Given the description of an element on the screen output the (x, y) to click on. 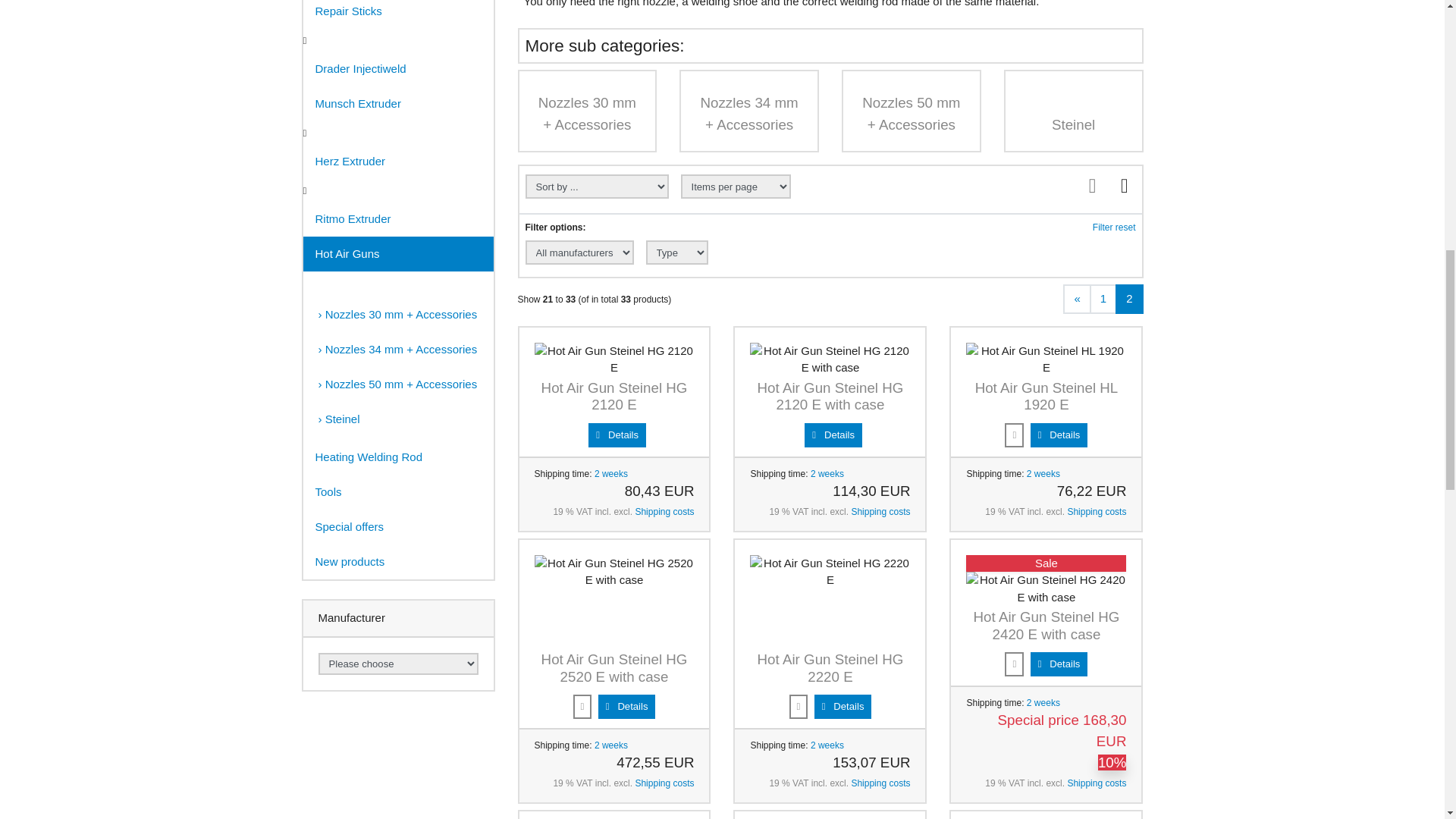
Herz Extruder (397, 161)
Ritmo Extruder (397, 218)
Munsch Extruder (397, 103)
Repair Sticks (397, 14)
Hot Air Guns (397, 253)
Drader Injectiweld (397, 68)
